Given the description of an element on the screen output the (x, y) to click on. 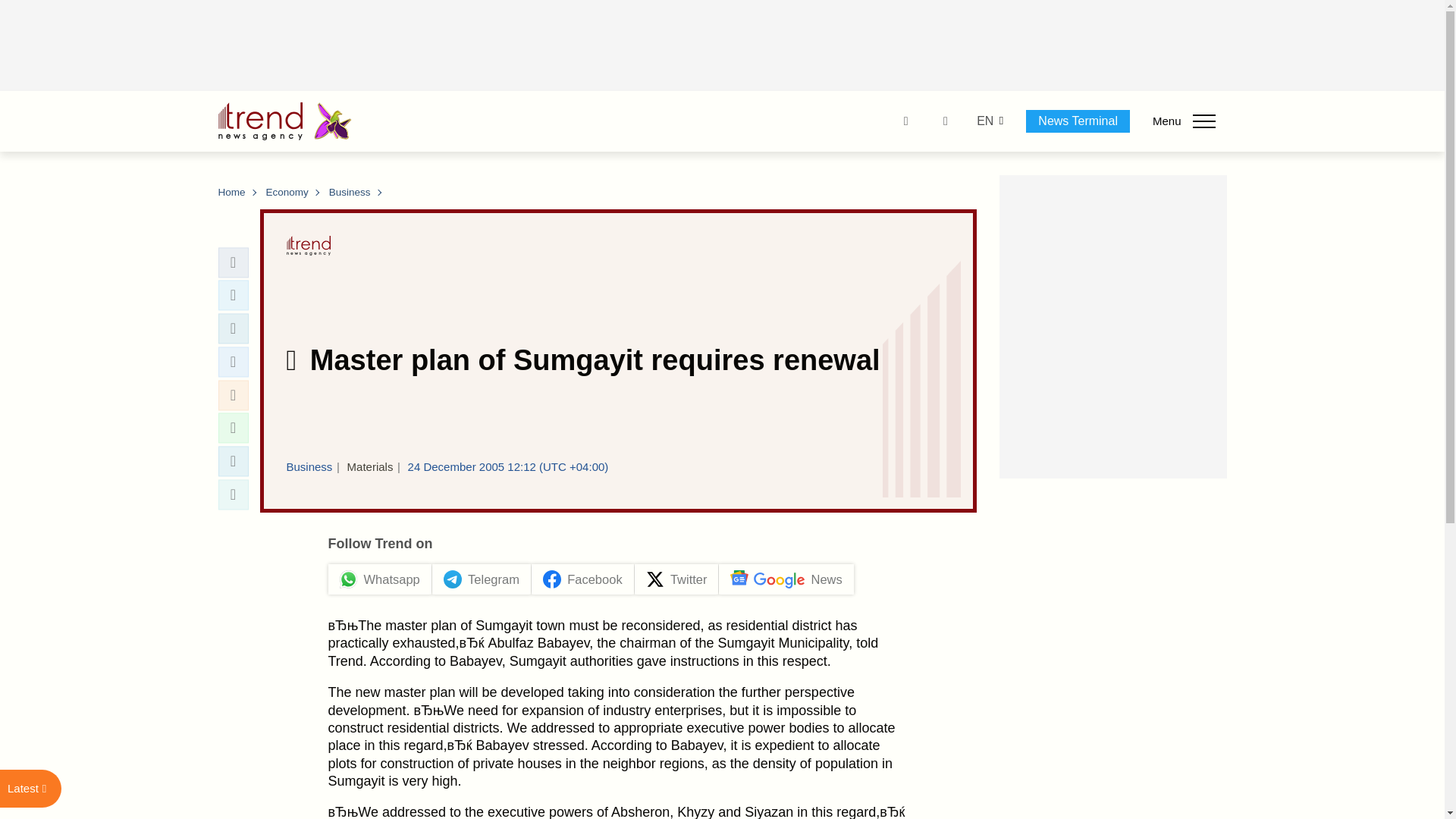
News Terminal (1077, 120)
English (984, 121)
EN (984, 121)
